Given the description of an element on the screen output the (x, y) to click on. 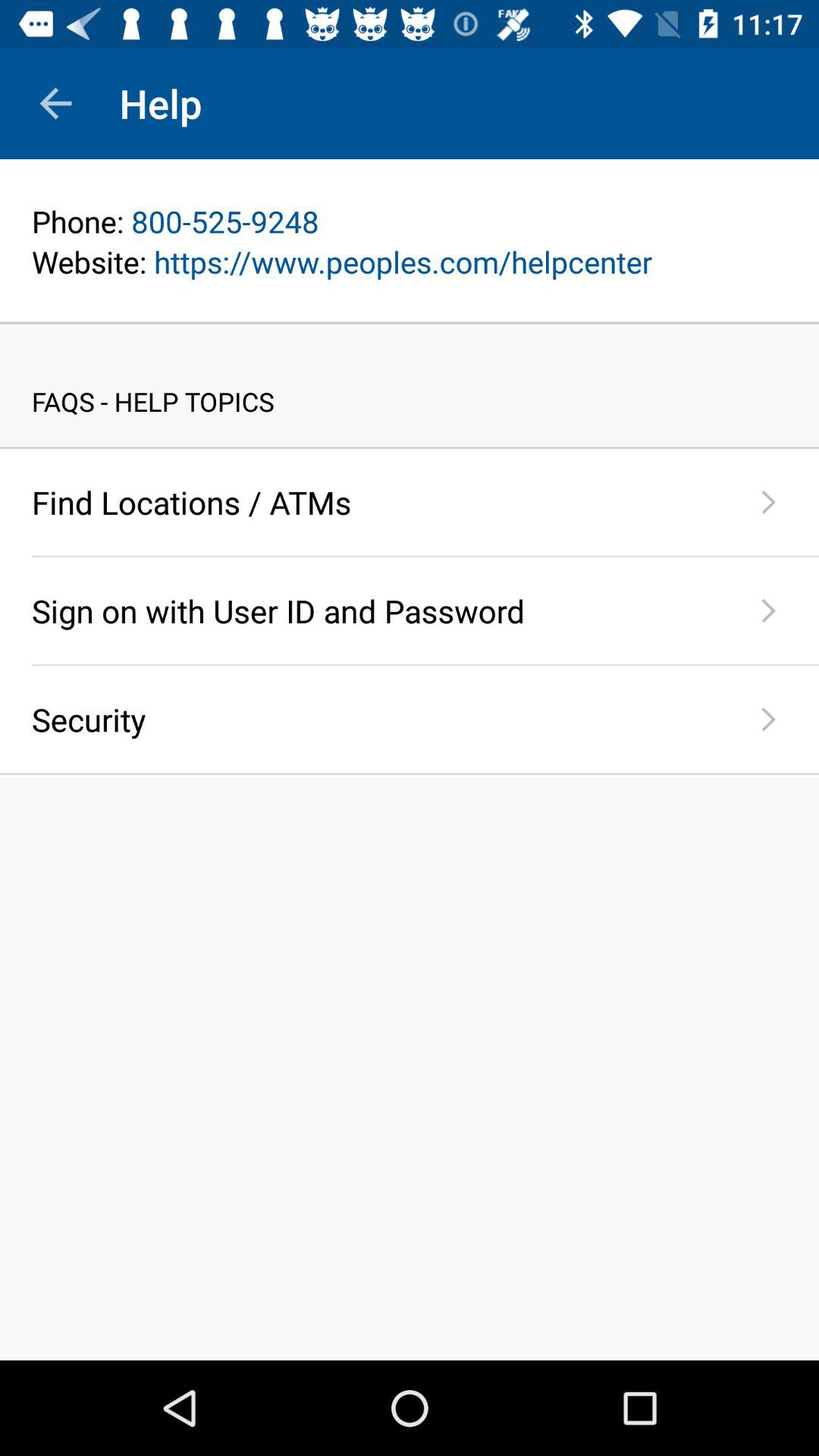
select find locations / atms (374, 501)
